Given the description of an element on the screen output the (x, y) to click on. 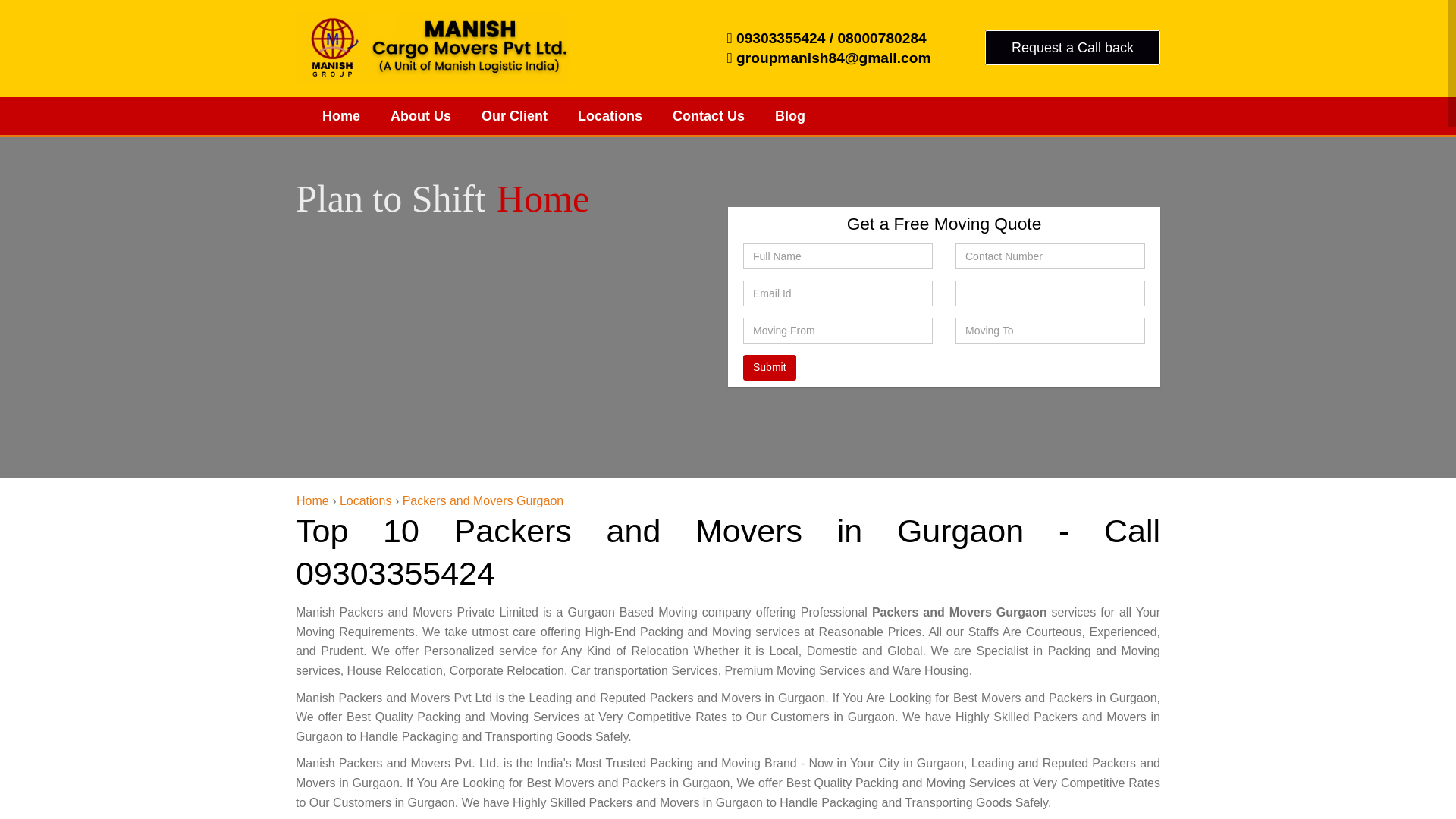
About Us (420, 116)
Manish Packers and Movers Pvt Ltd (341, 116)
Request a Call back (1072, 47)
Submit (769, 367)
Our Client (513, 116)
About Us (420, 116)
Locations (610, 116)
Home (313, 500)
Locations (610, 116)
Manish Packers and Movers Pvt. Ltd (432, 48)
